Given the description of an element on the screen output the (x, y) to click on. 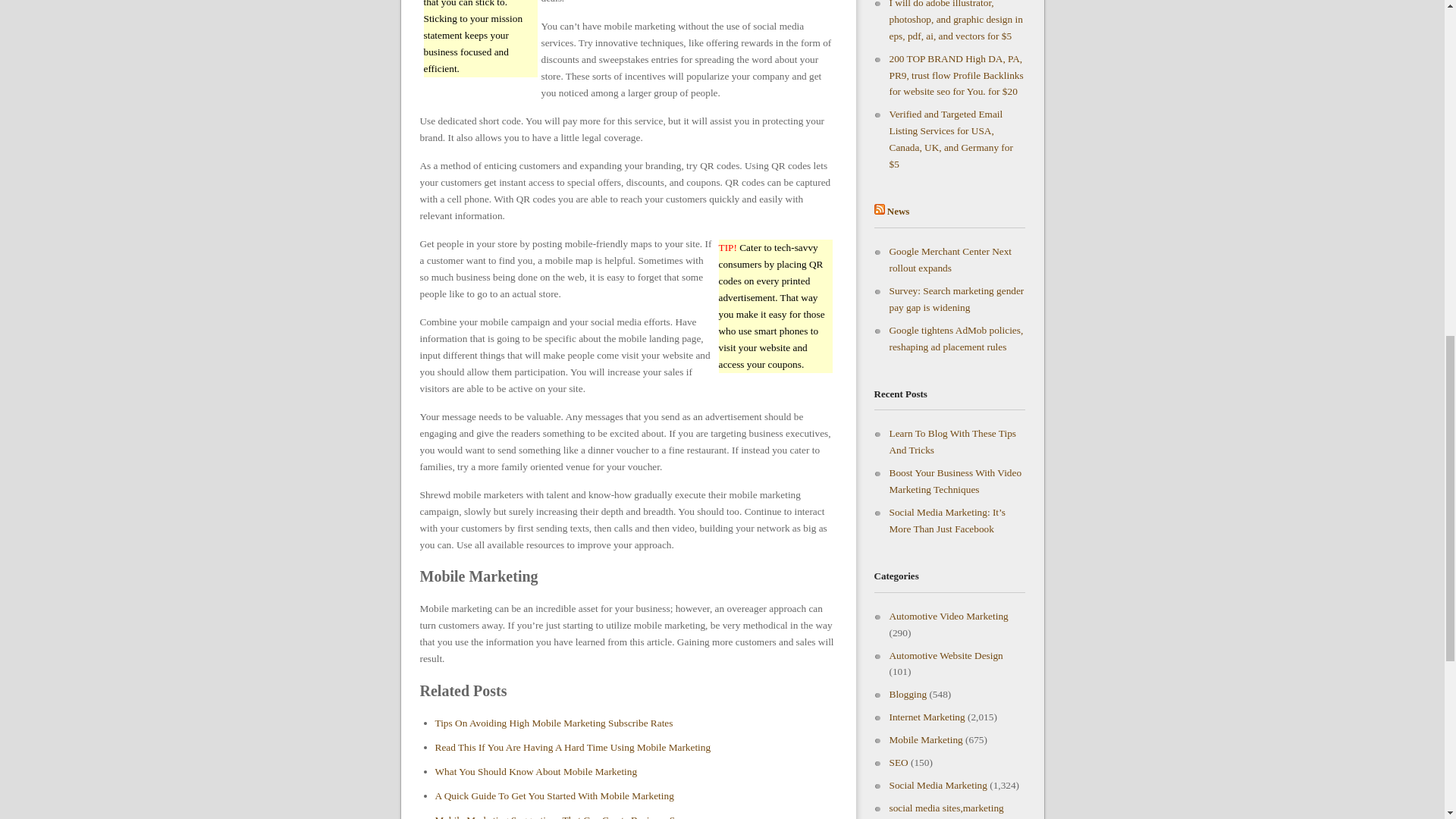
Tips On Avoiding High Mobile Marketing Subscribe Rates (553, 722)
What You Should Know About Mobile Marketing (536, 771)
A Quick Guide To Get You Started With Mobile Marketing (554, 795)
Tips On Avoiding High Mobile Marketing Subscribe Rates (553, 722)
What You Should Know About Mobile Marketing (536, 771)
A Quick Guide To Get You Started With Mobile Marketing (554, 795)
